Given the description of an element on the screen output the (x, y) to click on. 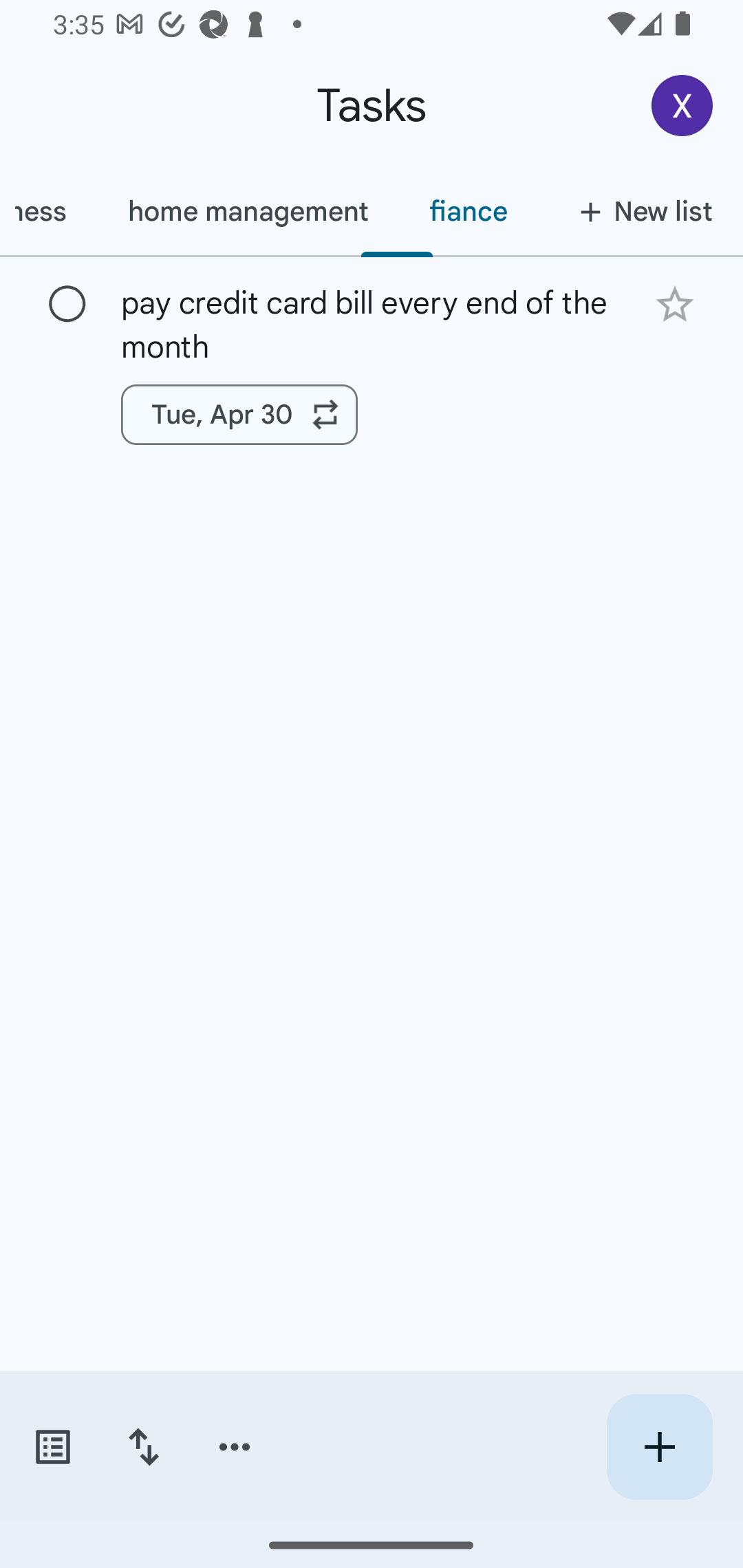
home management (247, 211)
New list (640, 211)
Add star (674, 303)
Mark as complete (67, 304)
Tue, Apr 30 (239, 414)
Switch task lists (52, 1447)
Create new task (659, 1446)
Change sort order (143, 1446)
More options (234, 1446)
